Given the description of an element on the screen output the (x, y) to click on. 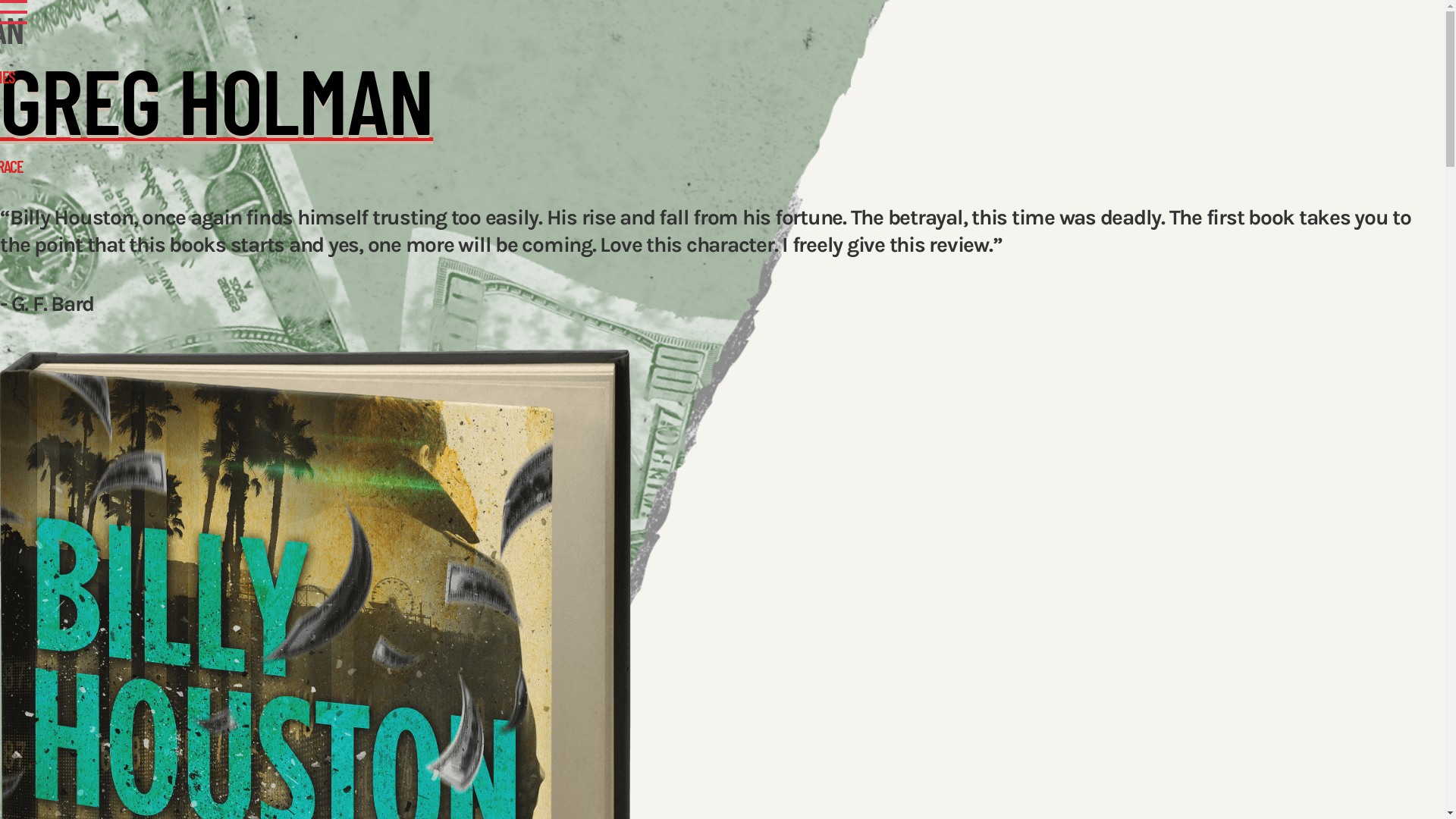
GREG HOLMAN Element type: text (216, 120)
